Given the description of an element on the screen output the (x, y) to click on. 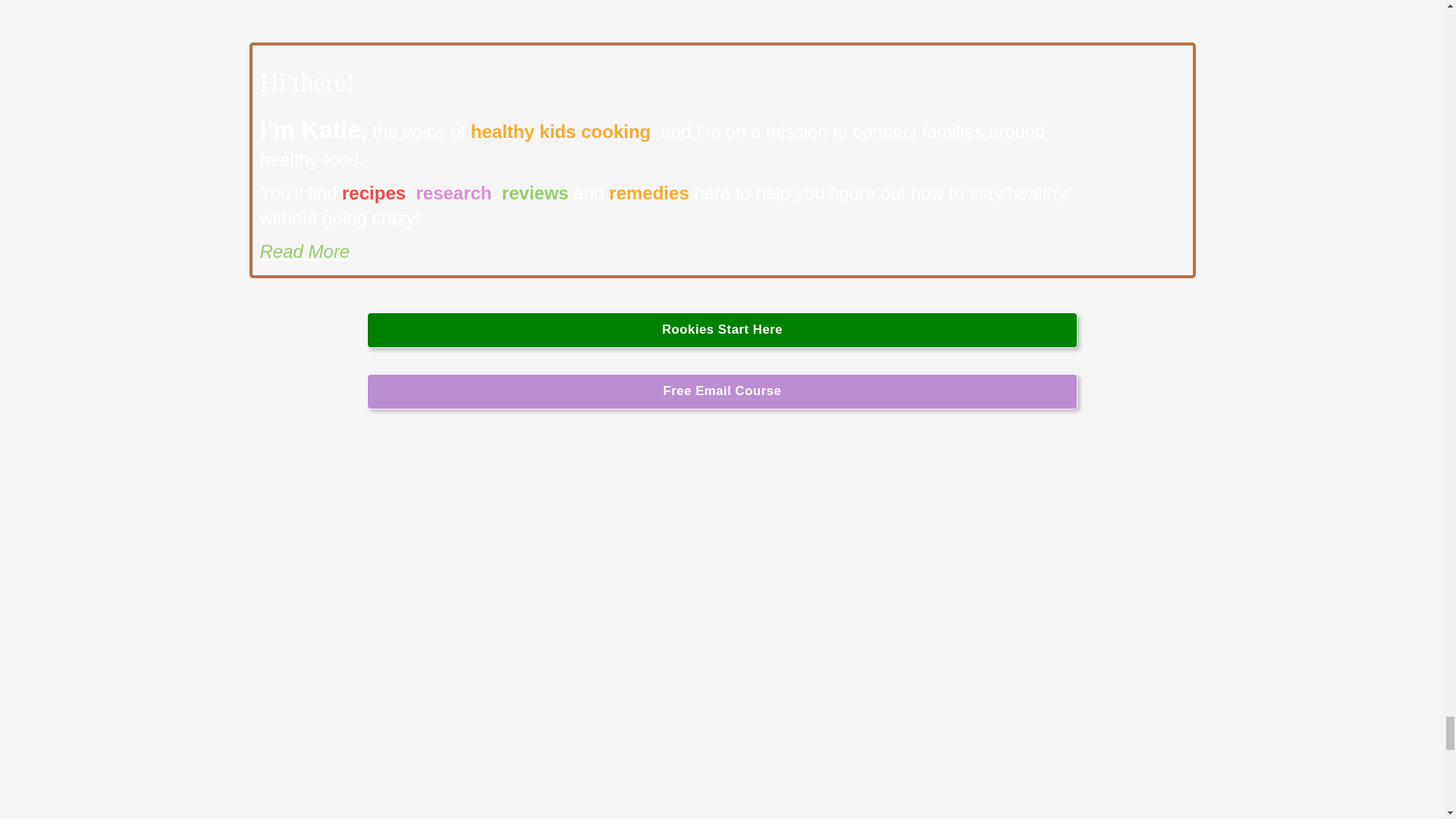
Here's what I actually use in my kitchen and home. (721, 629)
